Given the description of an element on the screen output the (x, y) to click on. 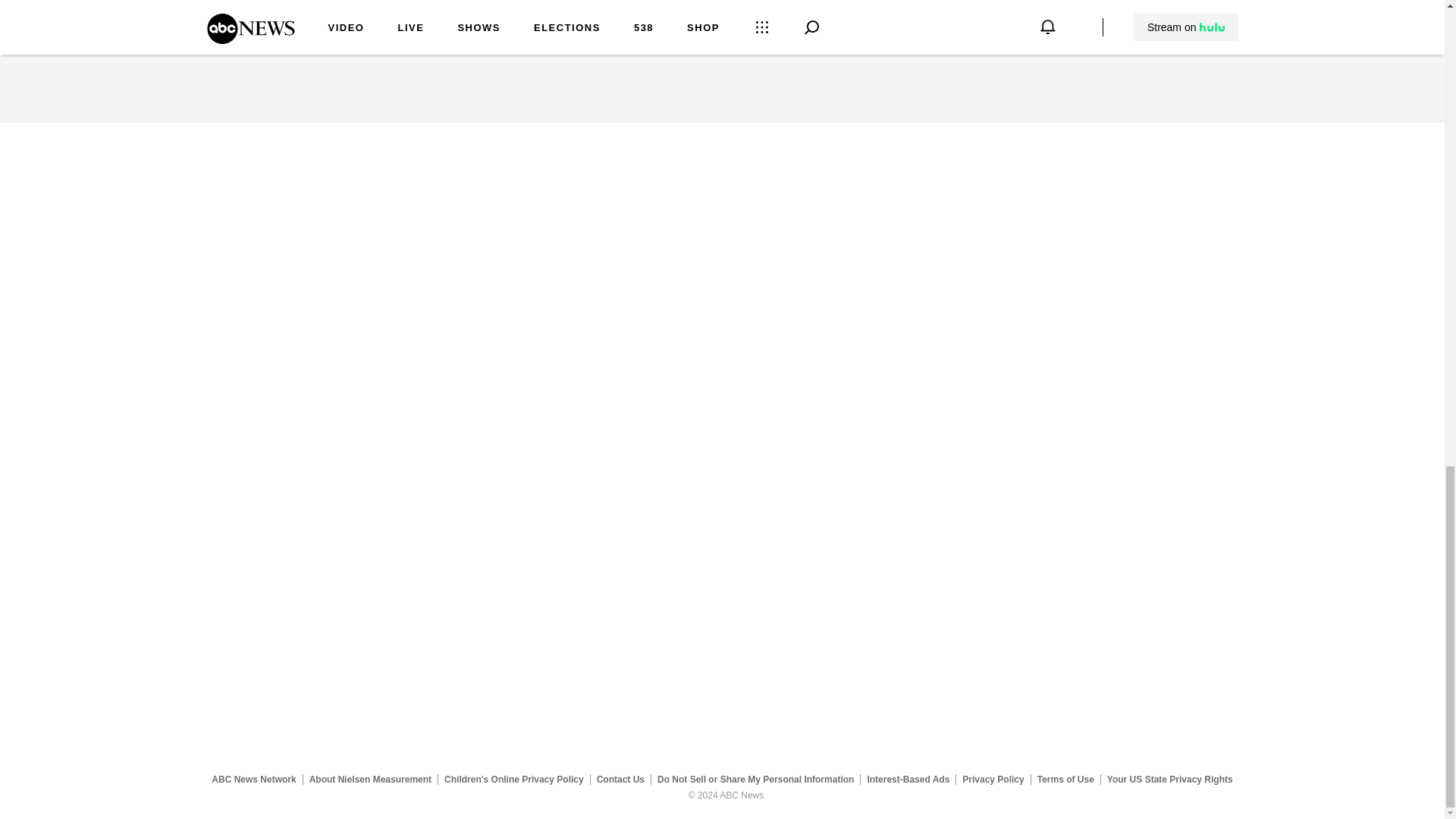
Contact Us (620, 778)
Privacy Policy (993, 778)
Do Not Sell or Share My Personal Information (755, 778)
Children's Online Privacy Policy (514, 778)
Your US State Privacy Rights (1169, 778)
About Nielsen Measurement (370, 778)
Interest-Based Ads (908, 778)
Terms of Use (1065, 778)
ABC News Network (253, 778)
